Given the description of an element on the screen output the (x, y) to click on. 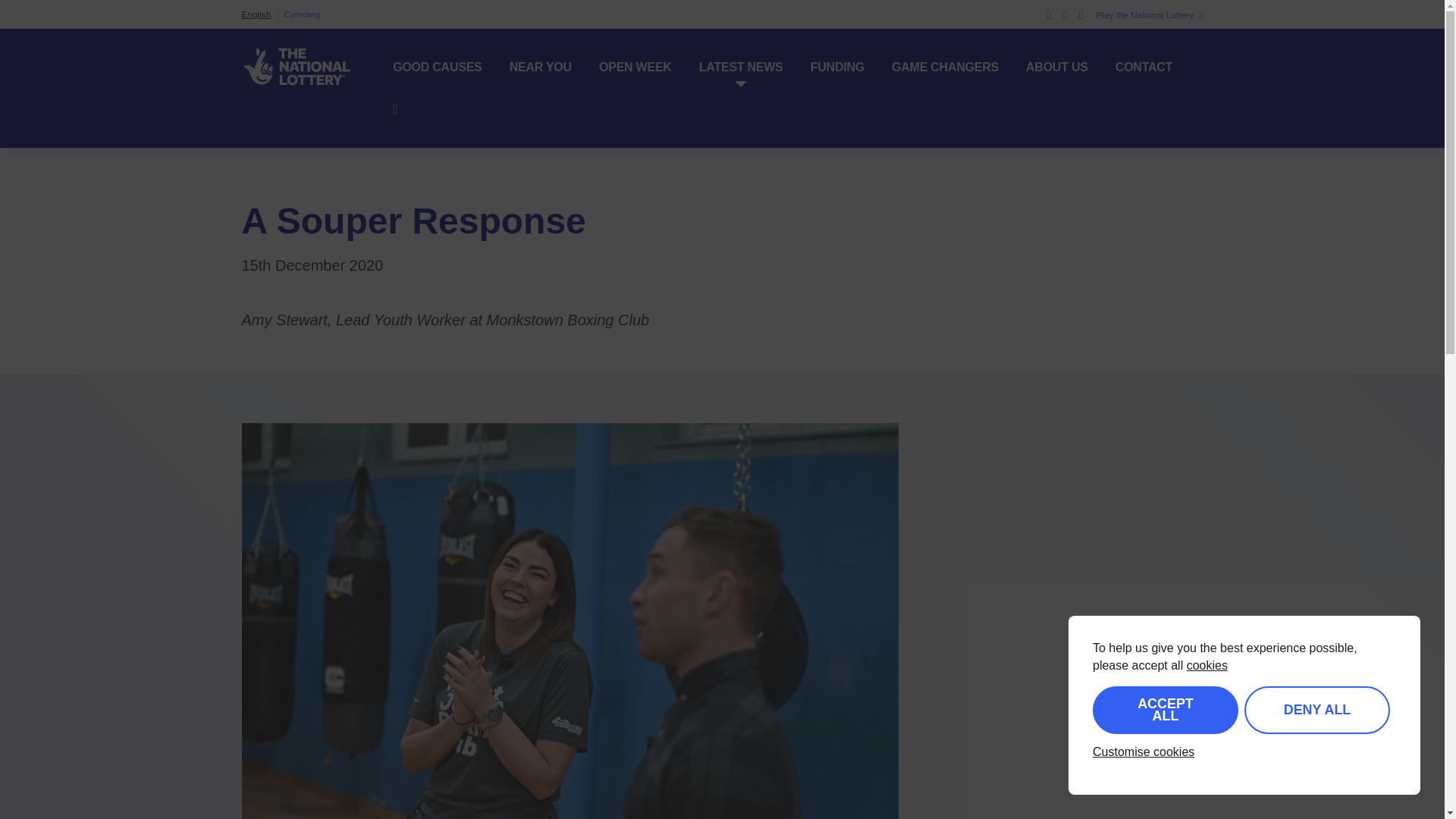
ACCEPT ALL (1166, 709)
Customise cookies (1143, 752)
OPEN WEEK (634, 66)
GAME CHANGERS (944, 66)
LATEST NEWS (740, 66)
ABOUT US (1056, 66)
Cymraeg (301, 14)
FUNDING (837, 66)
DENY ALL (1317, 709)
NEAR YOU (540, 66)
Twitter (1048, 13)
Instagram (1080, 13)
cookies (1206, 665)
Play the National Lottery (1147, 14)
Facebook (1064, 13)
